Given the description of an element on the screen output the (x, y) to click on. 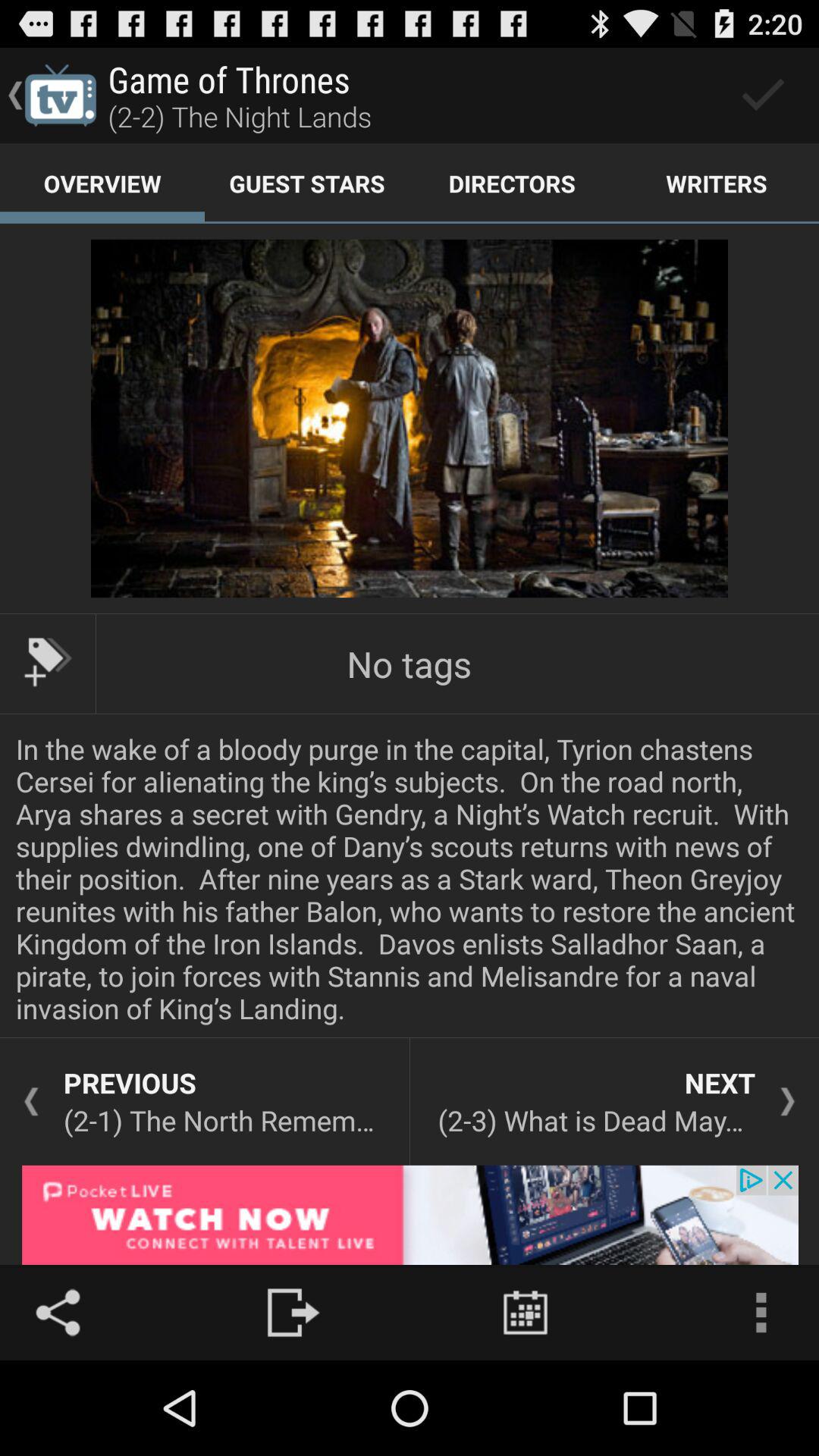
click advertisement (409, 1214)
